Given the description of an element on the screen output the (x, y) to click on. 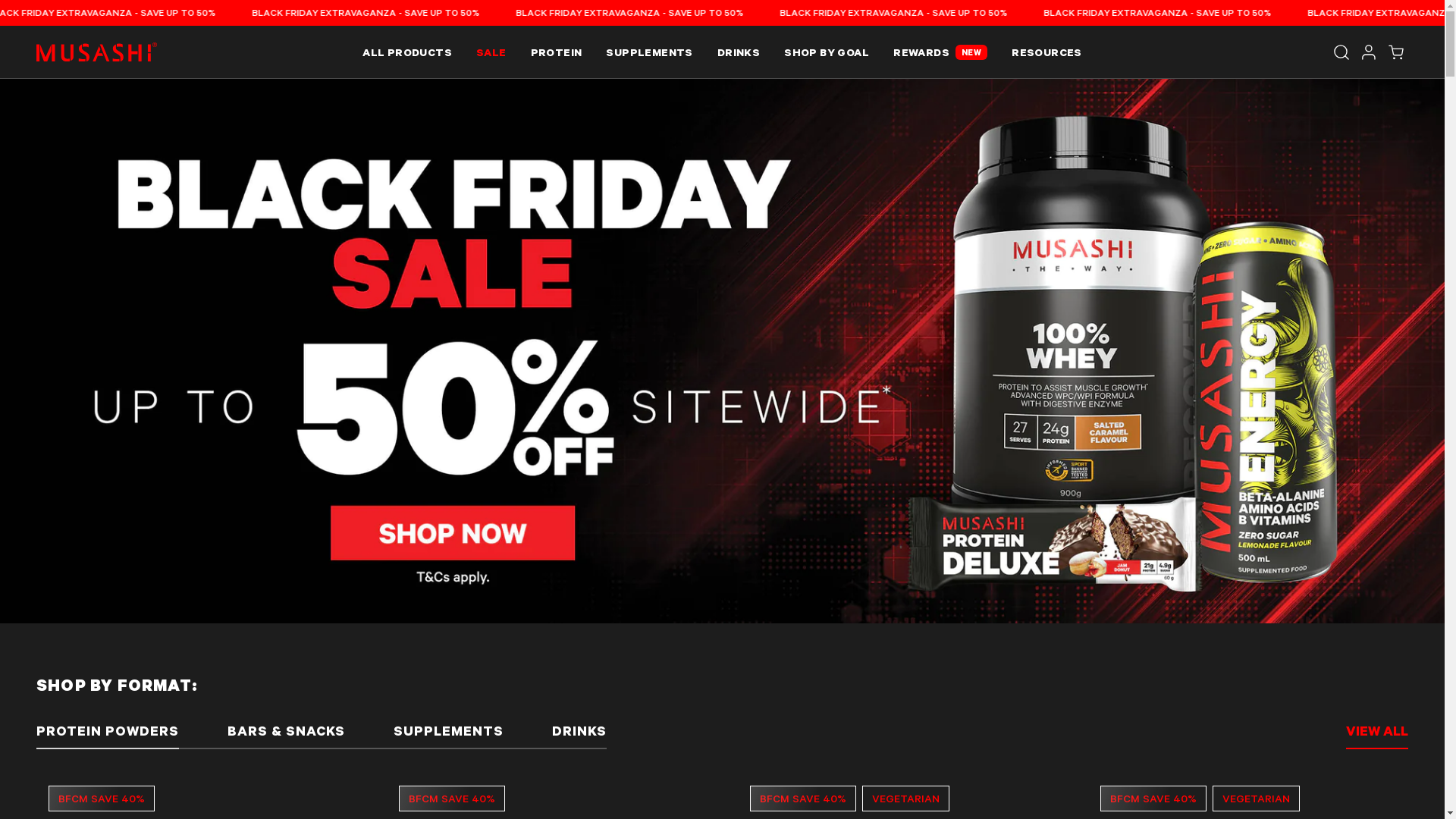
SHOP BY GOAL Element type: text (826, 51)
BARS & SNACKS Element type: text (286, 733)
SUPPLEMENTS Element type: text (648, 51)
REWARDS
NEW Element type: text (940, 51)
MUSASHI Element type: text (96, 52)
ALL PRODUCTS Element type: text (406, 51)
DRINKS Element type: text (579, 733)
RESOURCES Element type: text (1046, 51)
SUPPLEMENTS Element type: text (448, 733)
Log in Element type: text (1368, 51)
VIEW ALL Element type: text (1377, 734)
PROTEIN POWDERS Element type: text (107, 733)
SALE Element type: text (491, 51)
BLACK FRIDAY EXTRAVAGANZA - SAVE UP TO 50% Element type: text (113, 12)
BLACK FRIDAY EXTRAVAGANZA - SAVE UP TO 50% Element type: text (638, 12)
PROTEIN Element type: text (556, 51)
BLACK FRIDAY EXTRAVAGANZA - SAVE UP TO 50% Element type: text (375, 12)
DRINKS Element type: text (738, 51)
BLACK FRIDAY EXTRAVAGANZA - SAVE UP TO 50% Element type: text (1157, 12)
Cart Element type: text (1395, 51)
BLACK FRIDAY EXTRAVAGANZA - SAVE UP TO 50% Element type: text (898, 12)
